Given the description of an element on the screen output the (x, y) to click on. 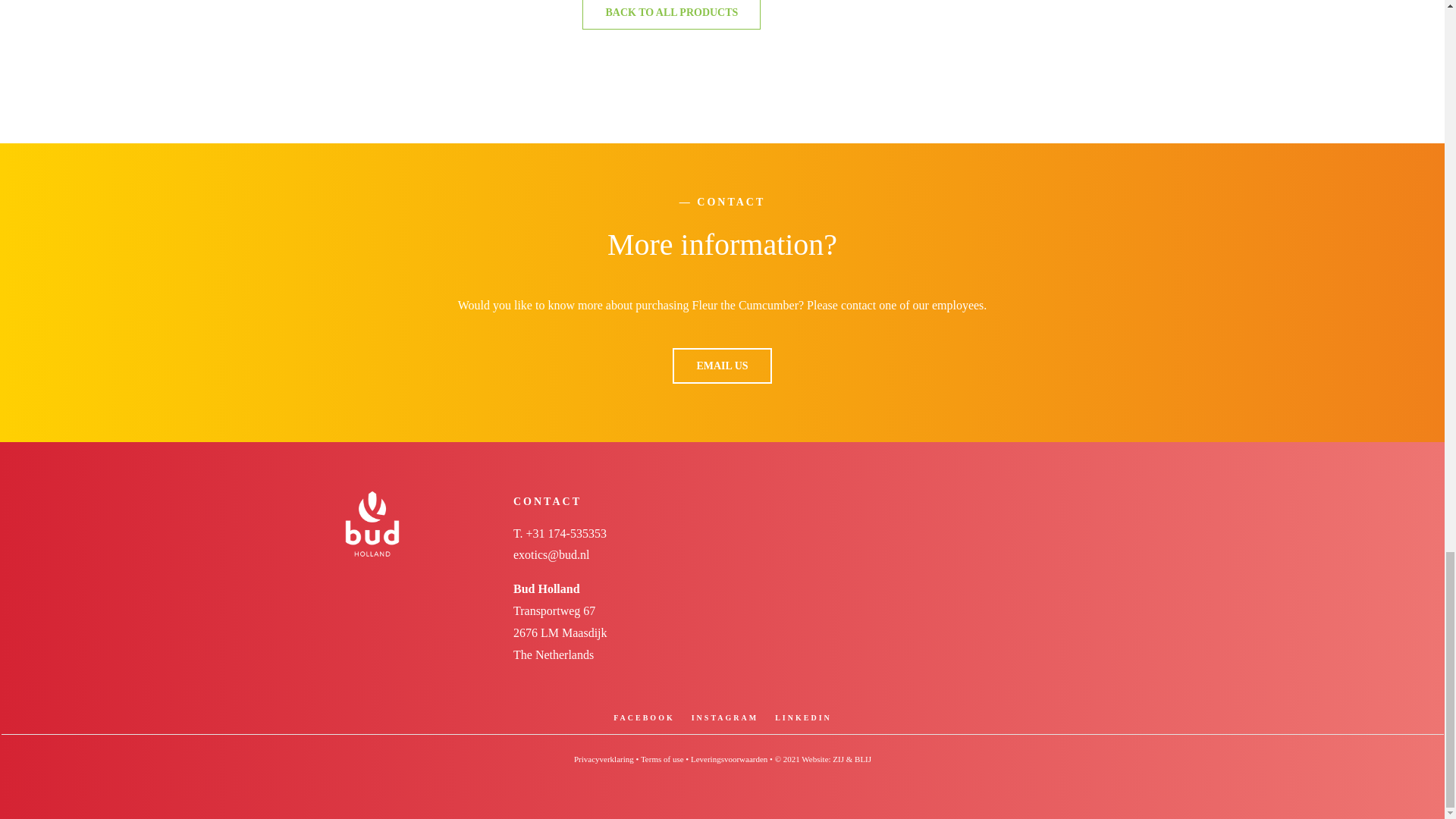
Terms of use (662, 758)
LINKEDIN (802, 717)
Leveringsvoorwaarden (728, 758)
BACK TO ALL PRODUCTS (671, 14)
EMAIL US (721, 366)
Privacyverklaring (603, 758)
INSTAGRAM (724, 717)
FACEBOOK (643, 717)
